Given the description of an element on the screen output the (x, y) to click on. 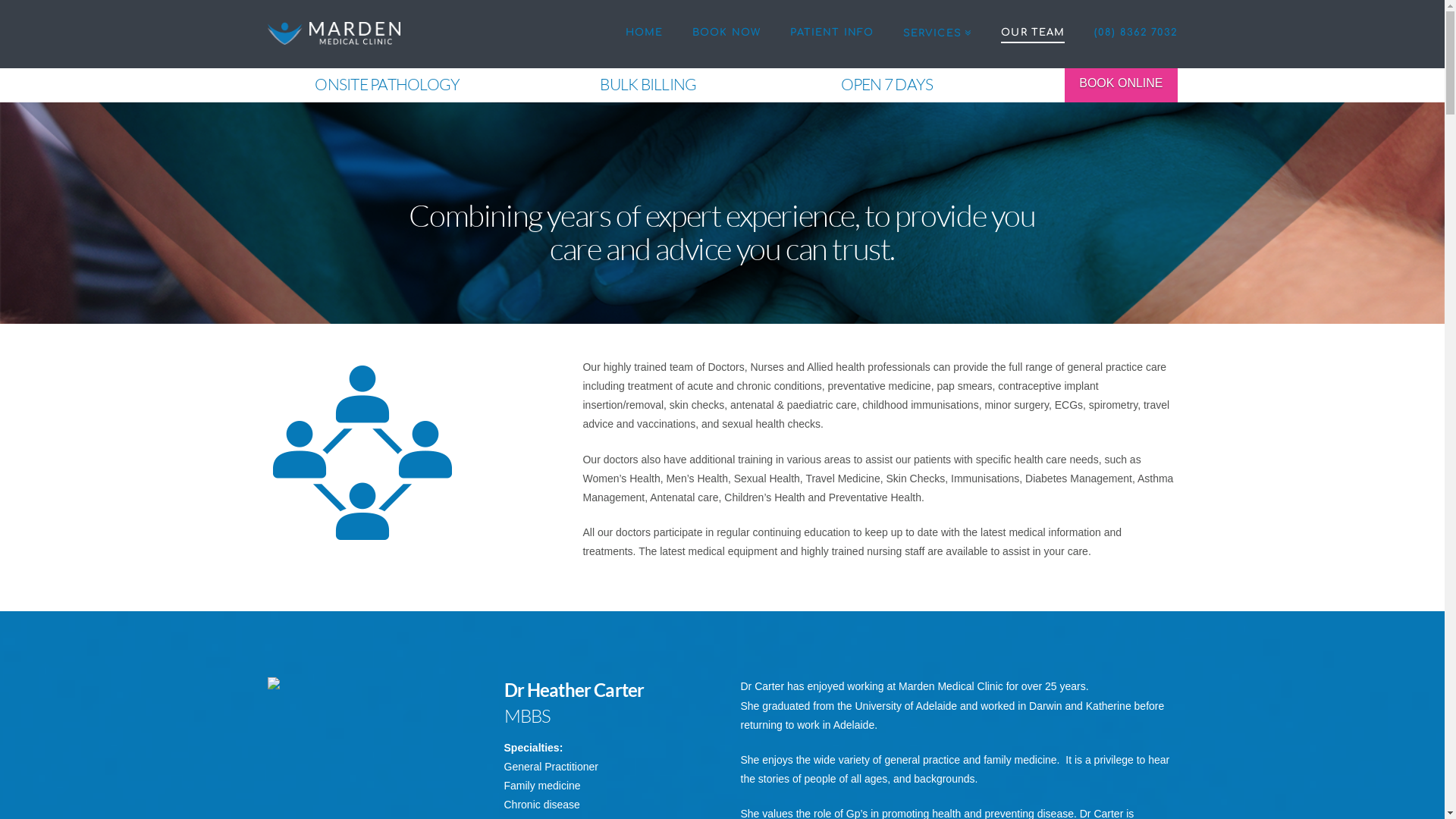
OUR TEAM Element type: text (1032, 34)
BOOK NOW Element type: text (726, 34)
SERVICES Element type: text (936, 34)
Mixed Billing Family Care Element type: hover (332, 29)
(08) 8362 7032 Element type: text (1127, 34)
BOOK ONLINE Element type: text (1120, 85)
PATIENT INFO Element type: text (831, 34)
HOME Element type: text (643, 34)
